Given the description of an element on the screen output the (x, y) to click on. 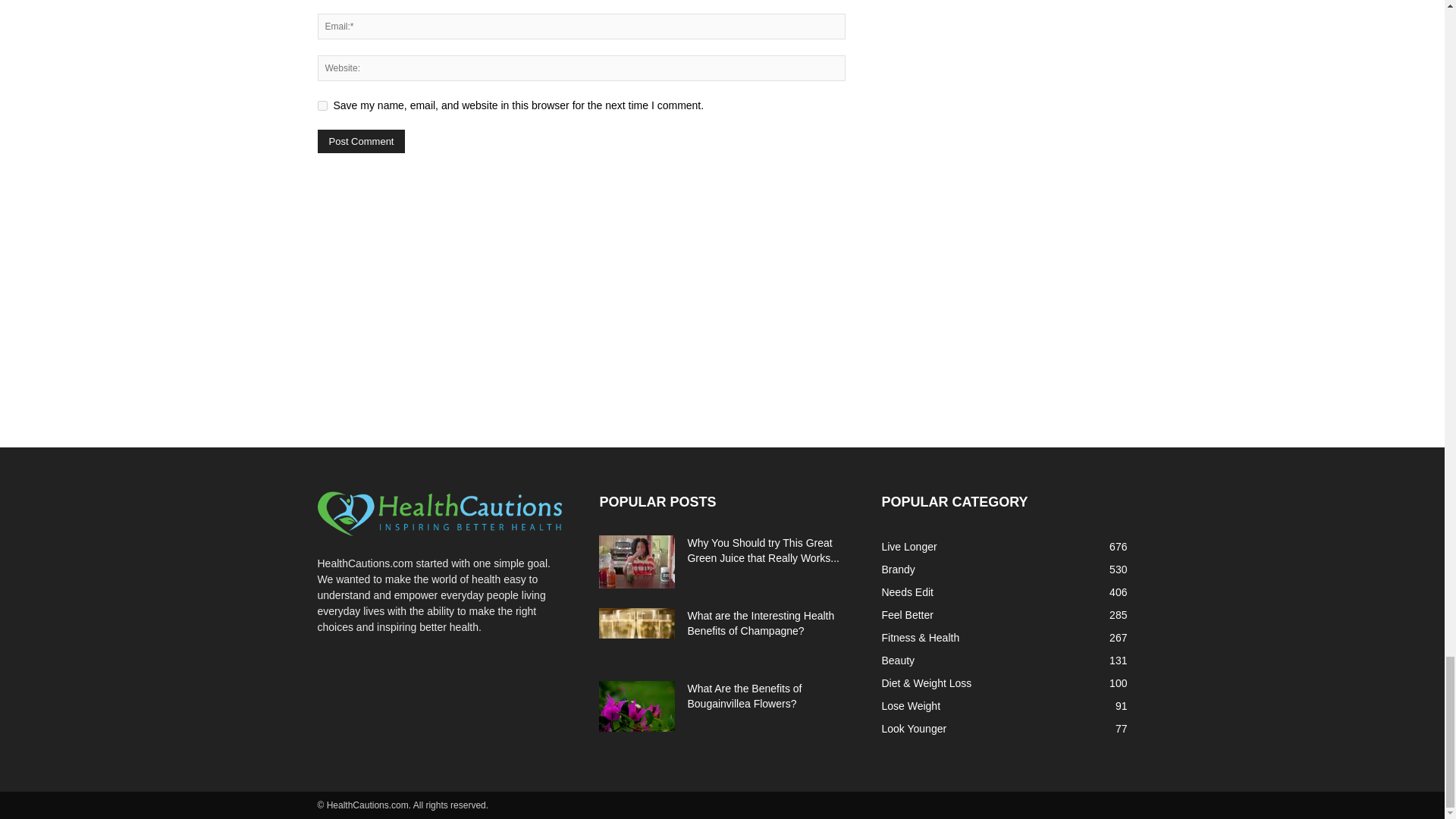
yes (321, 105)
Post Comment (360, 141)
